Given the description of an element on the screen output the (x, y) to click on. 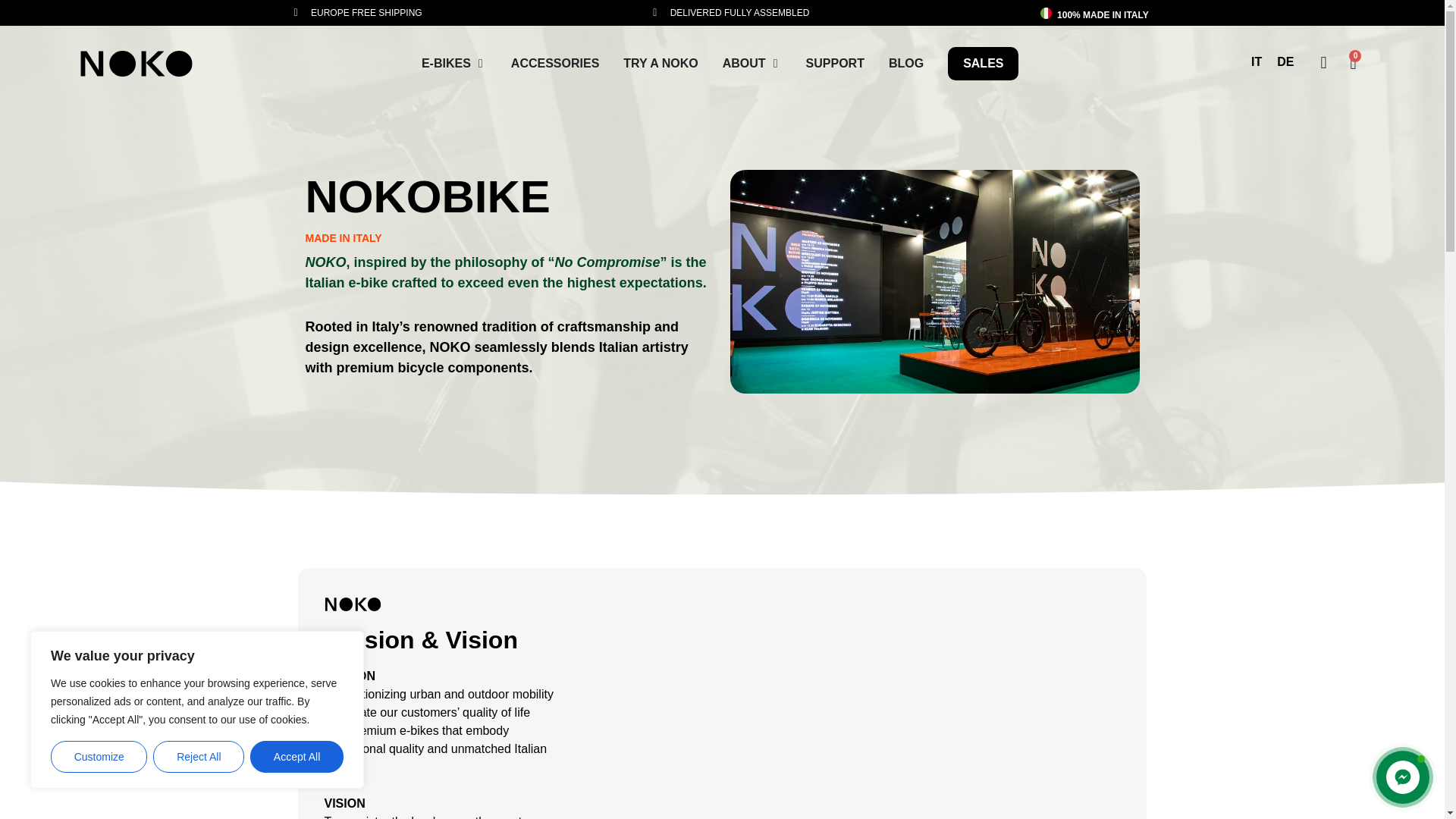
ABOUT (743, 63)
Reject All (198, 757)
logo (136, 63)
Customize (98, 757)
logo (352, 603)
Accept All (296, 757)
E-BIKES (446, 63)
noko stand (933, 281)
TRY A NOKO (660, 63)
ACCESSORIES (554, 63)
